Given the description of an element on the screen output the (x, y) to click on. 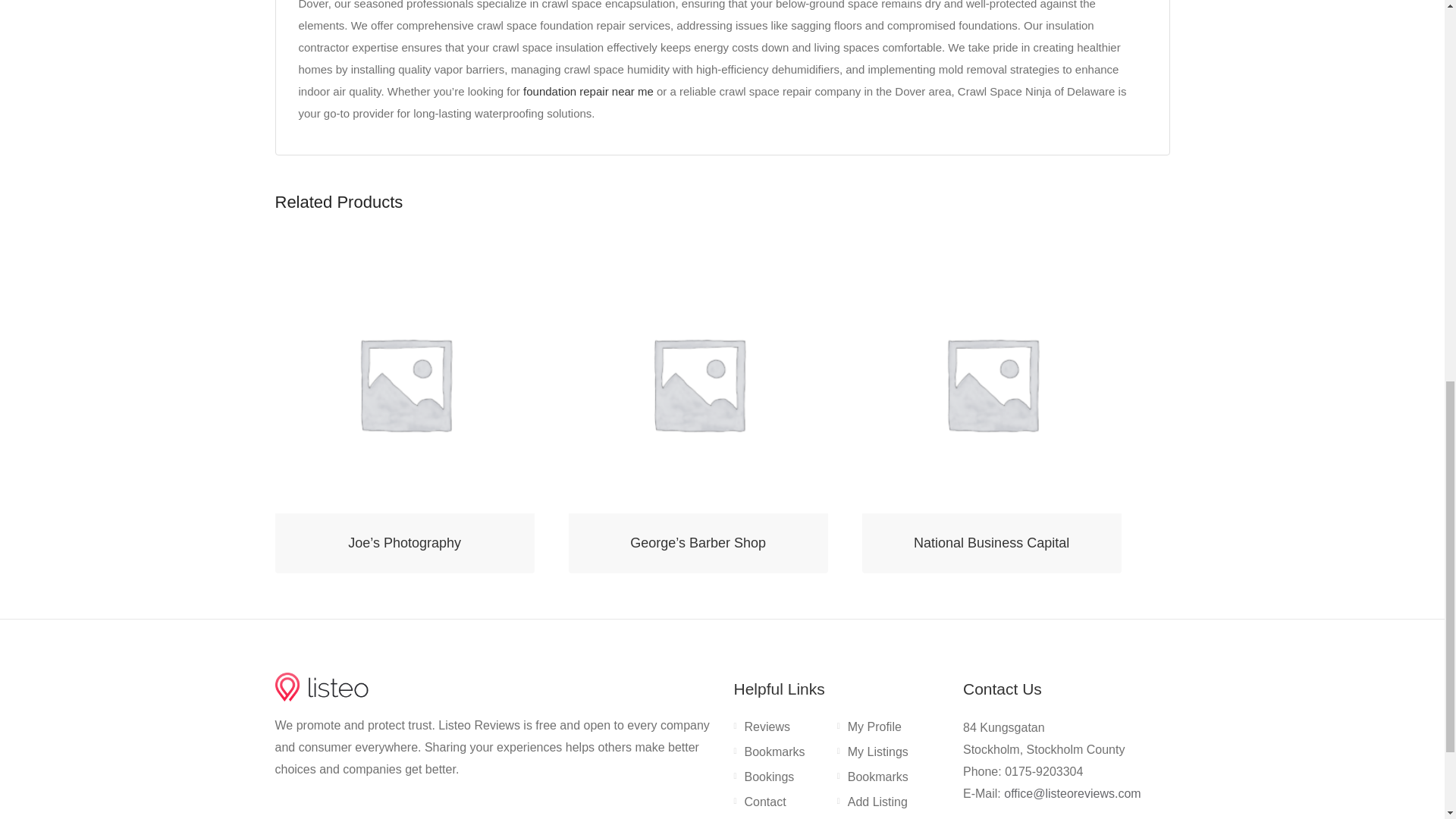
foundation repair near me (586, 91)
